Given the description of an element on the screen output the (x, y) to click on. 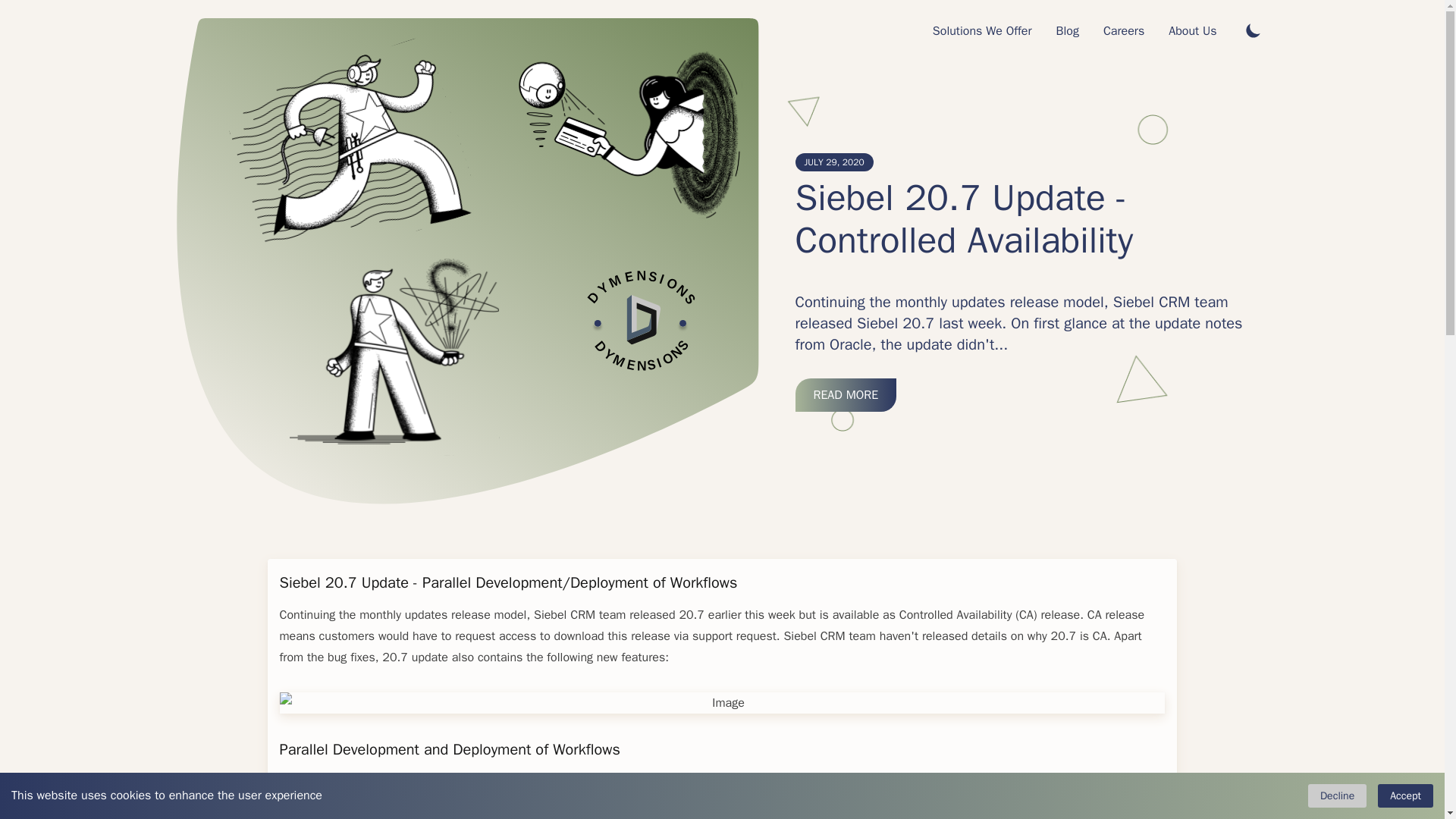
READ MORE (845, 394)
Decline (1337, 795)
Careers (1123, 29)
About Us (1192, 29)
Accept (1404, 795)
Solutions We Offer (981, 29)
Blog (1066, 29)
